Given the description of an element on the screen output the (x, y) to click on. 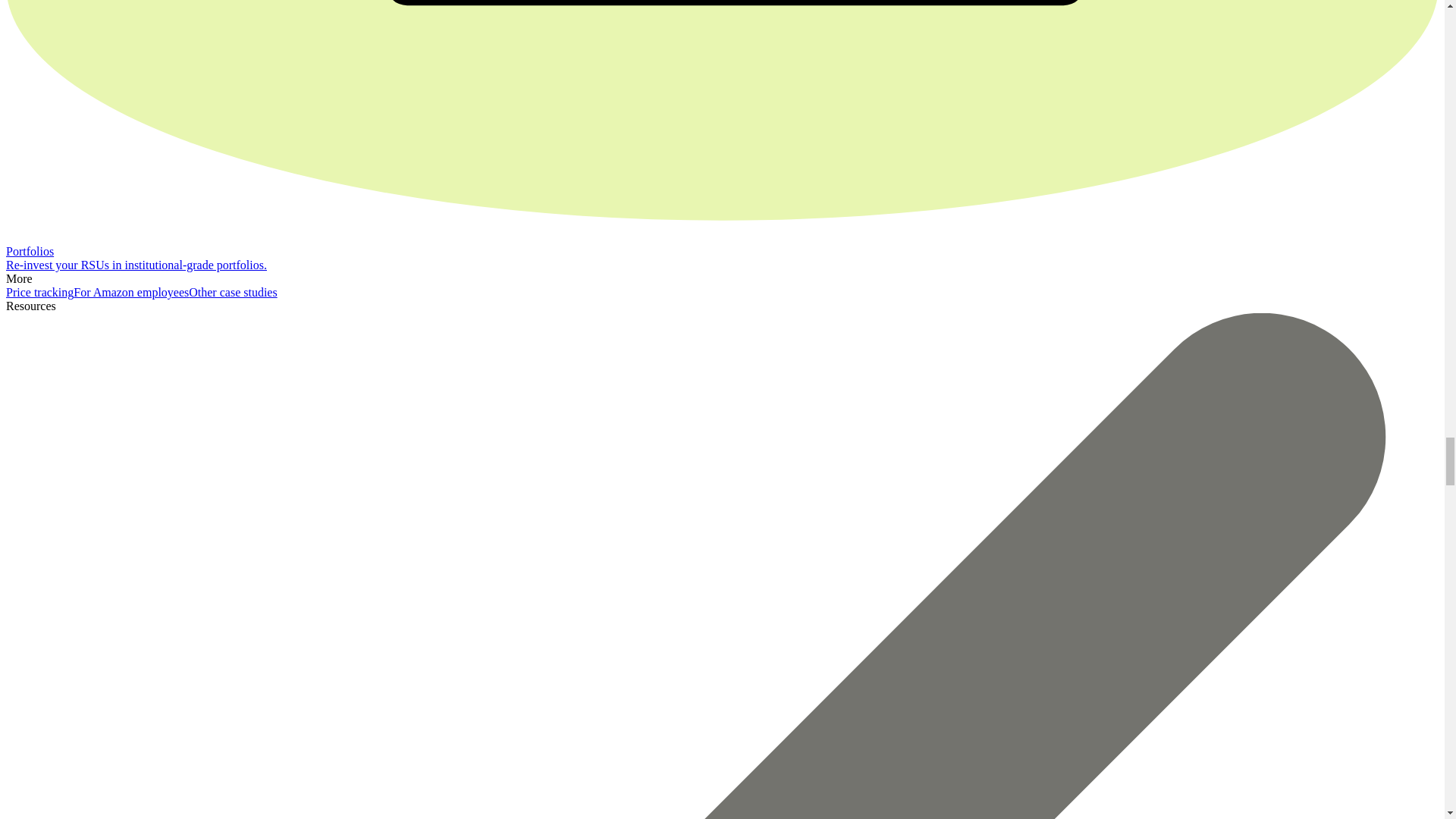
Price tracking (39, 291)
For Amazon employees (131, 291)
Other case studies (232, 291)
